Given the description of an element on the screen output the (x, y) to click on. 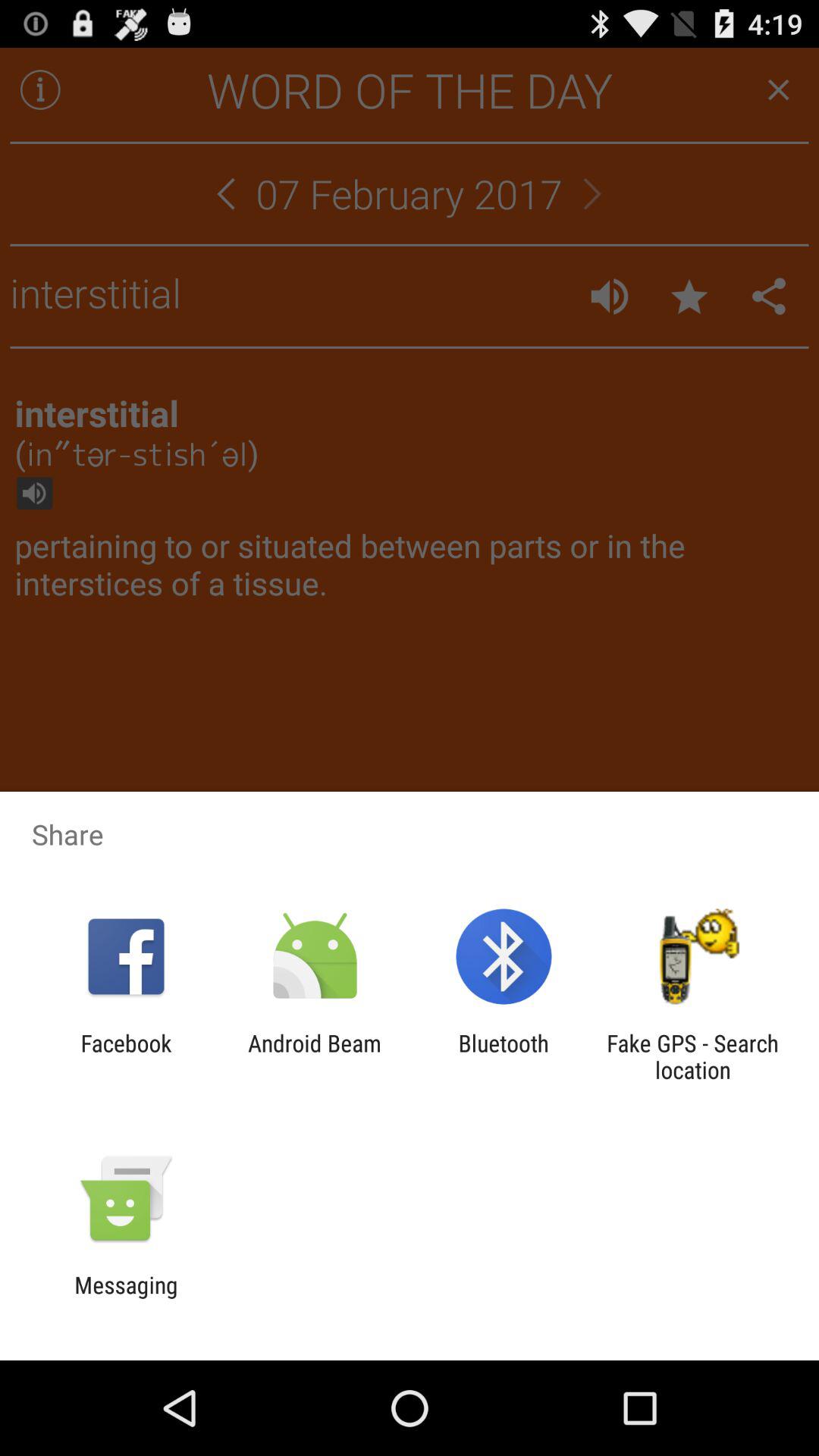
flip until the fake gps search (692, 1056)
